Given the description of an element on the screen output the (x, y) to click on. 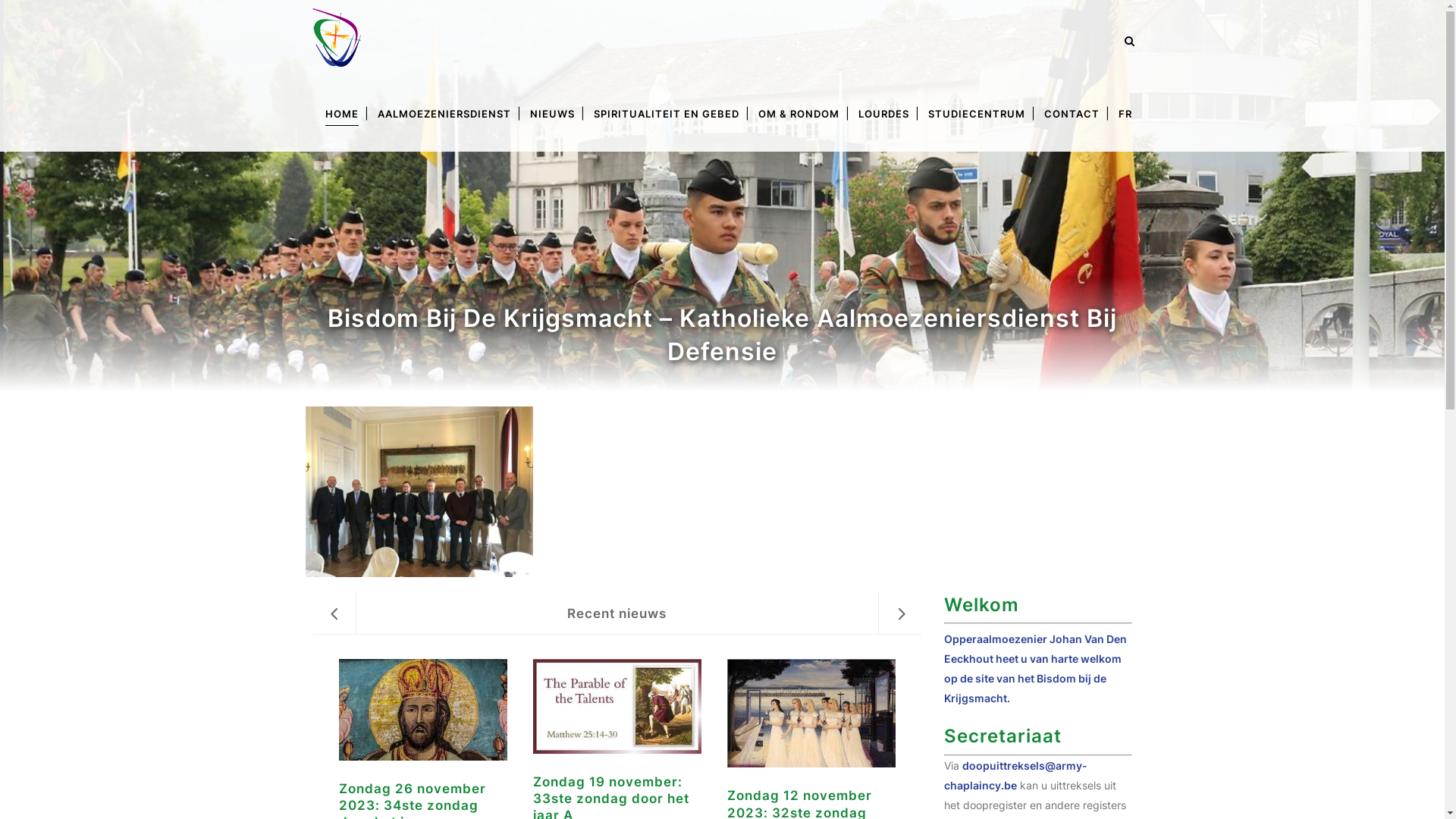
AALMOEZENIERSDIENST Element type: text (444, 113)
STUDIECENTRUM Element type: text (976, 113)
doopuittreksels@army-chaplaincy.be Element type: text (1015, 775)
Directie Katholieke Aalmoezeniersdienst Element type: text (729, 663)
NIEUWS Element type: text (551, 113)
LOURDES Element type: text (883, 113)
OM & RONDOM Element type: text (798, 113)
CONTACT Element type: text (1070, 113)
Volg ons ook via Facebook Element type: text (1005, 663)
SPIRITUALITEIT EN GEBED Element type: text (665, 113)
FR Element type: text (1124, 113)
HOME Element type: text (340, 113)
Bisdom bij de Krijgsmacht Element type: text (657, 774)
